Given the description of an element on the screen output the (x, y) to click on. 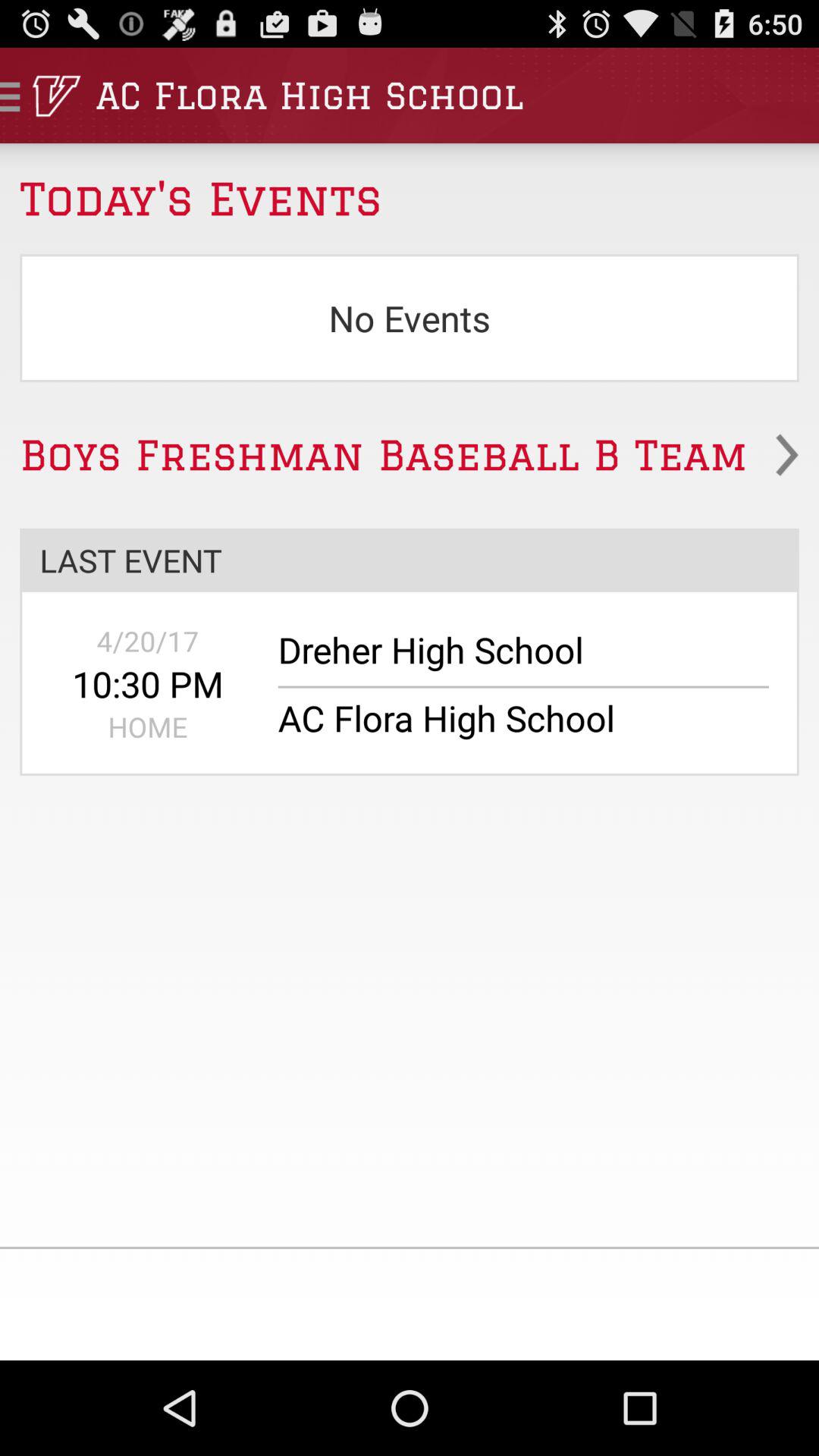
tap item next to the 10:30 pm item (513, 657)
